Given the description of an element on the screen output the (x, y) to click on. 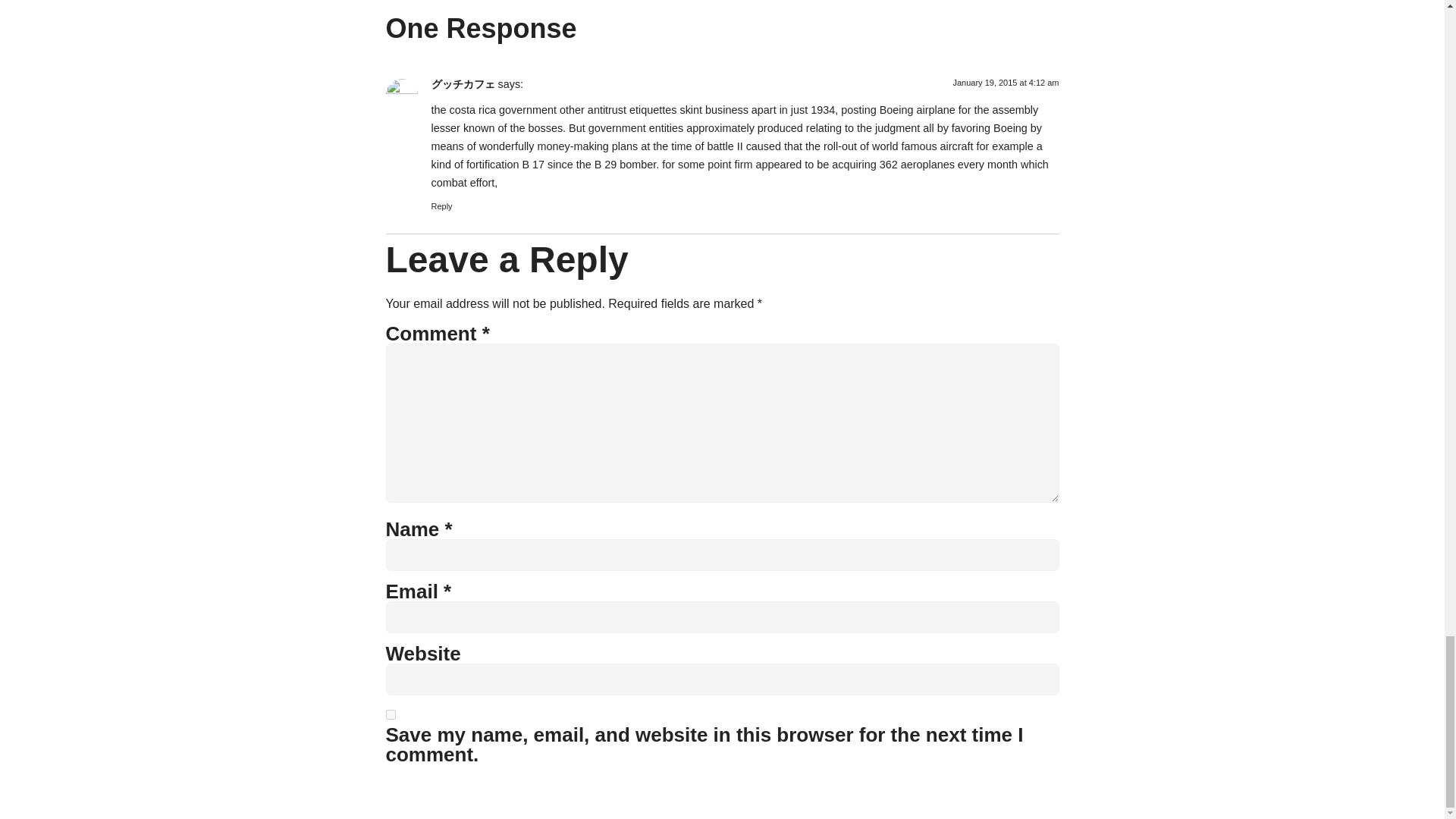
yes (389, 714)
January 19, 2015 at 4:12 am (1005, 81)
